Given the description of an element on the screen output the (x, y) to click on. 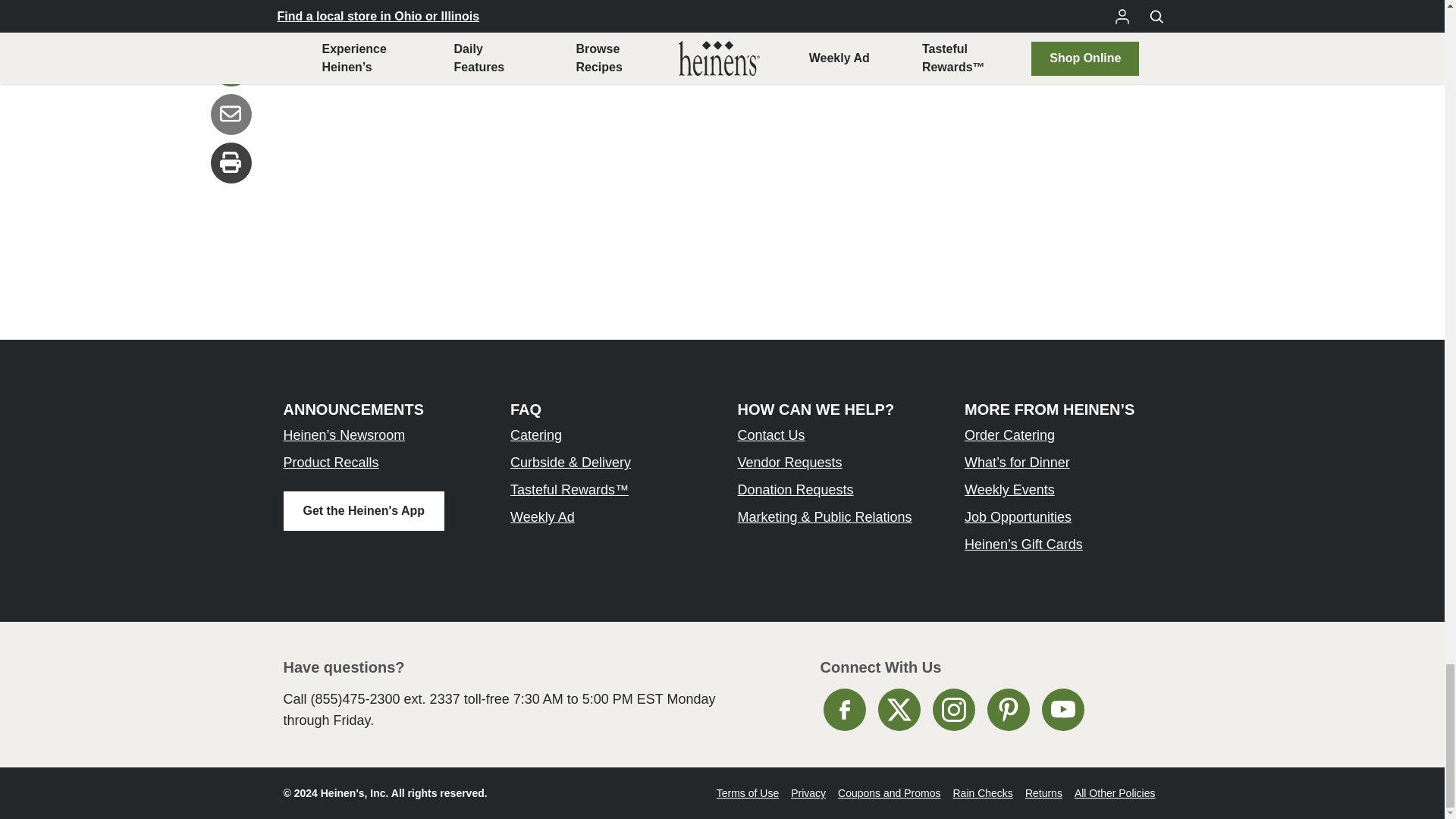
Connect with Heinen's on Instagram (954, 709)
Connect with Heinen's on YouTube (1063, 709)
Connect with Heinen's on Pinterest (1008, 709)
Connect with Heinen's on X (898, 709)
Connect with Heinen's on Facebook (845, 709)
